Given the description of an element on the screen output the (x, y) to click on. 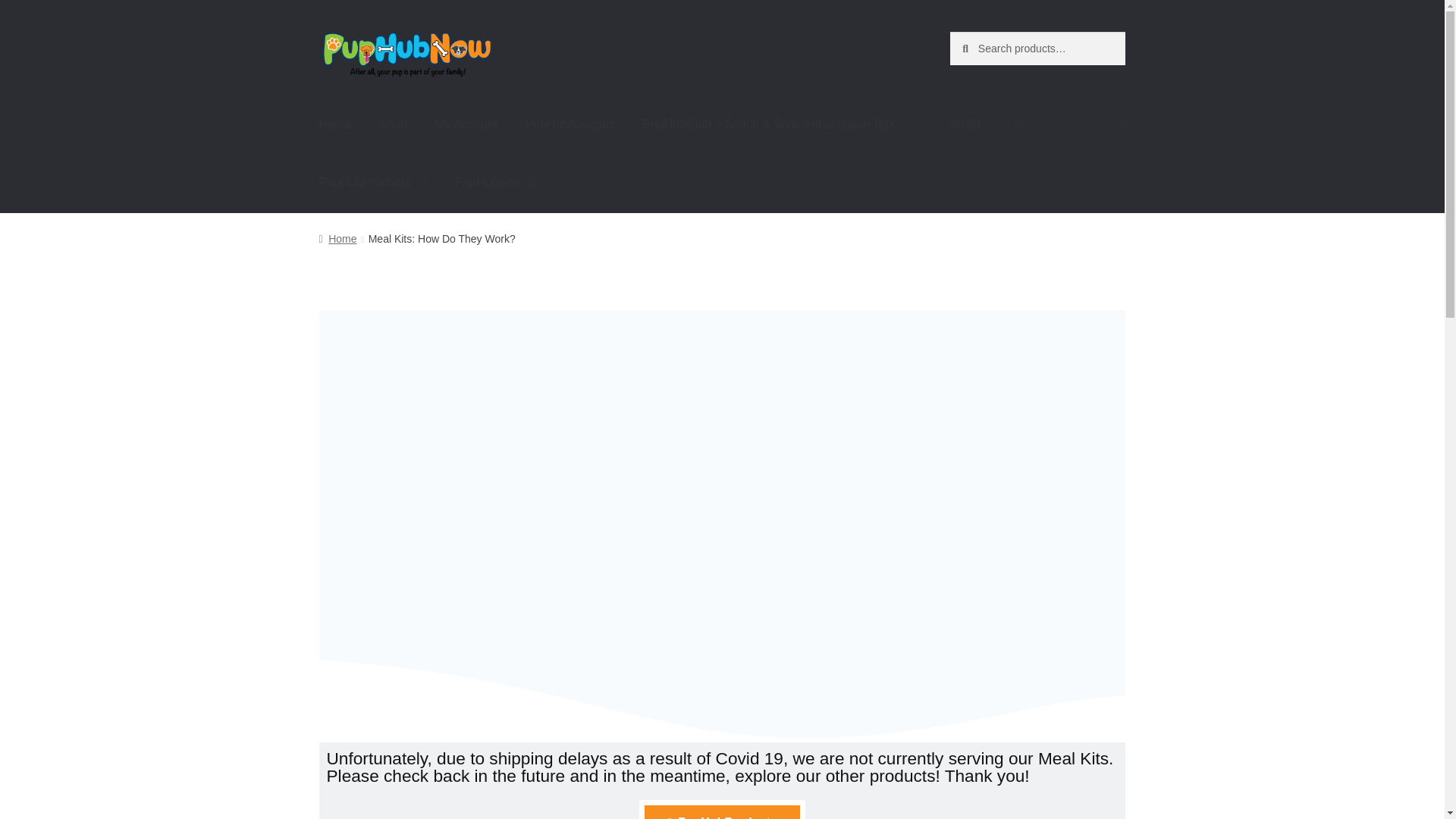
My Account (465, 124)
Home (335, 124)
View your shopping cart (1037, 124)
PupHubSpecials (570, 124)
PupHubProducts (373, 182)
PupHubInfo (494, 182)
